Given the description of an element on the screen output the (x, y) to click on. 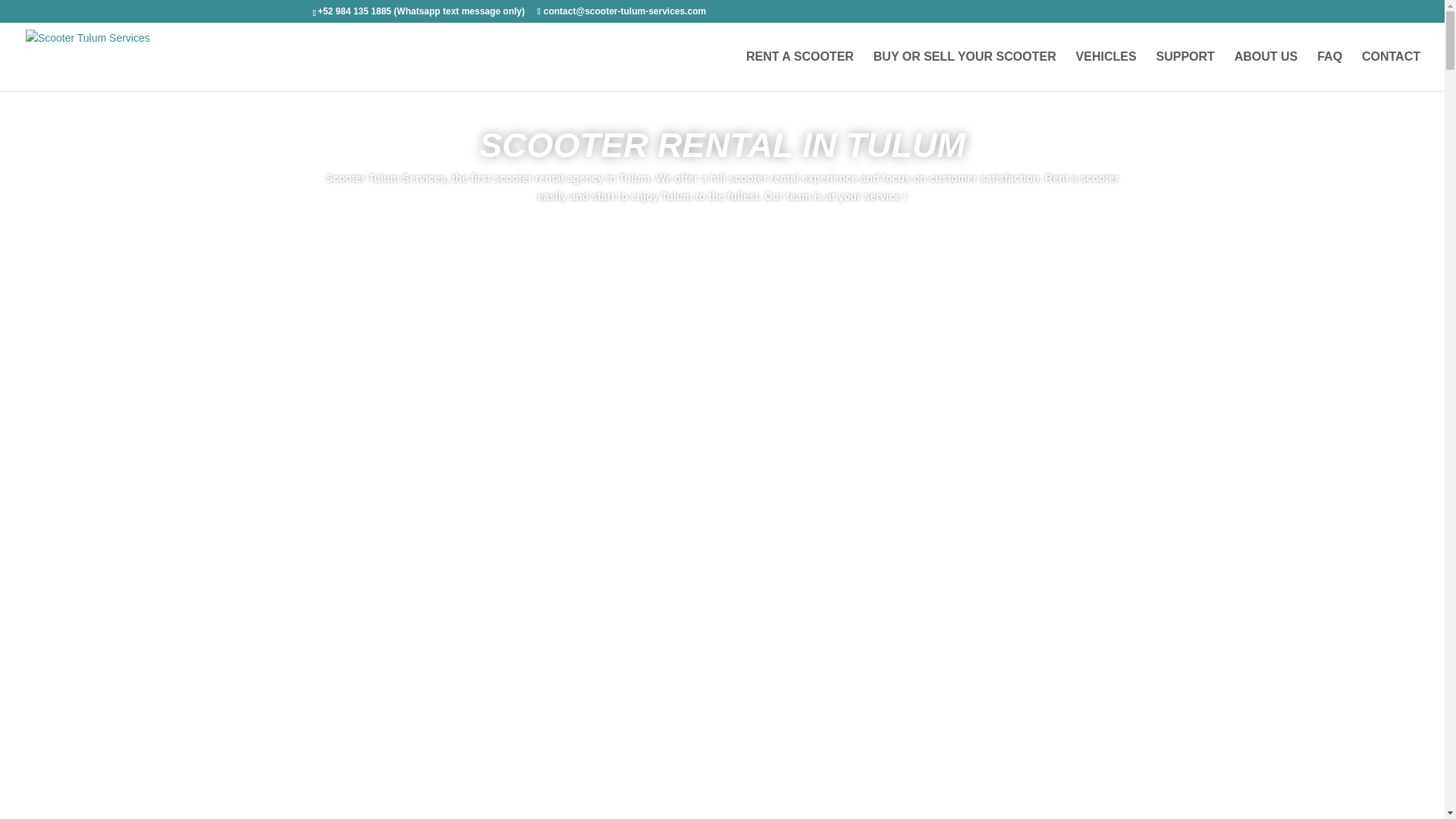
ABOUT US (1266, 70)
BUY OR SELL YOUR SCOOTER (965, 70)
SUPPORT (1185, 70)
CONTACT (1391, 70)
RENT A SCOOTER (799, 70)
VEHICLES (1106, 70)
